Given the description of an element on the screen output the (x, y) to click on. 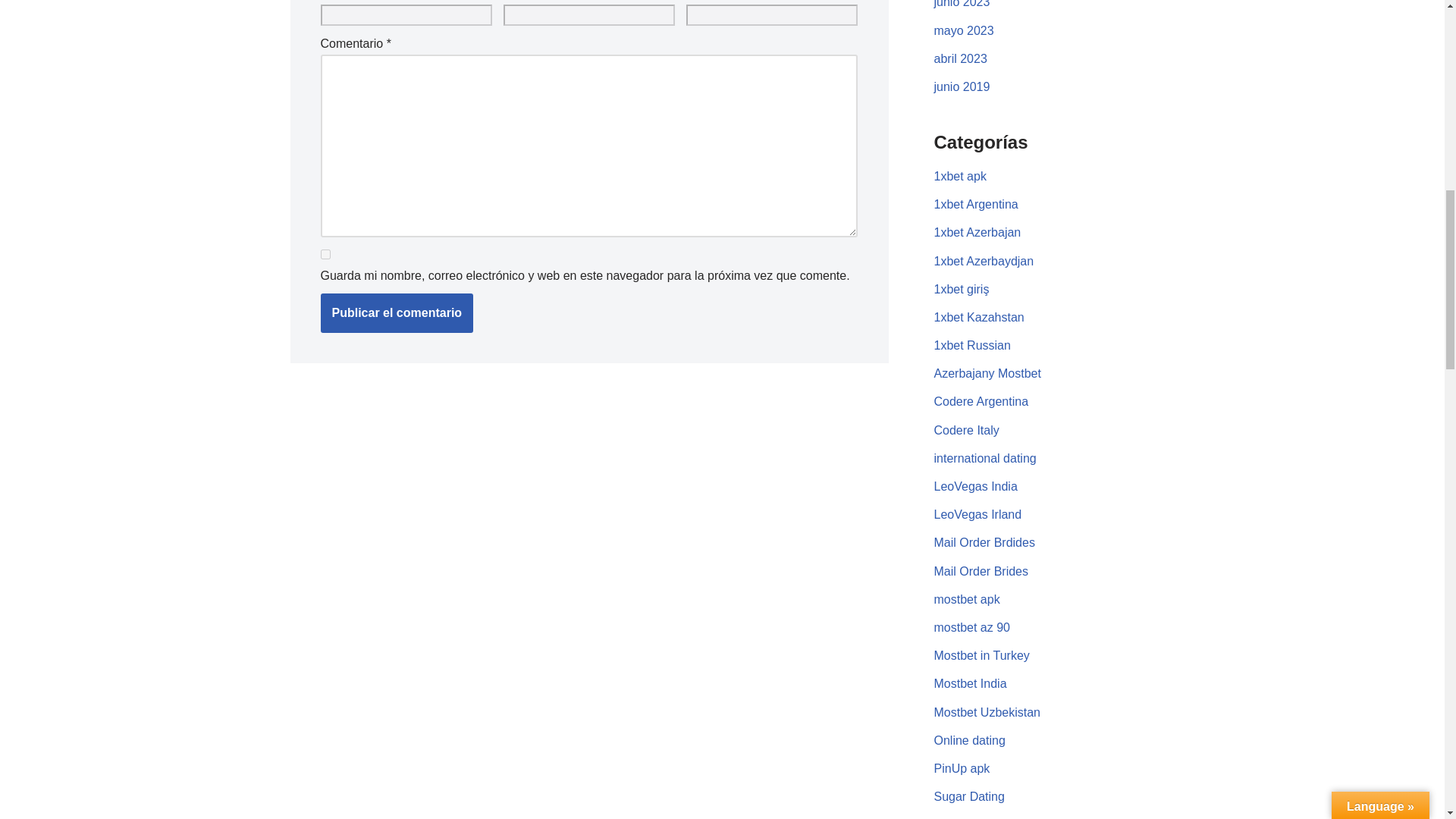
1xbet apk (960, 175)
1xbet Argentina (975, 204)
1xbet Azerbajan (978, 232)
junio 2019 (962, 86)
Publicar el comentario (396, 312)
mayo 2023 (964, 30)
Publicar el comentario (396, 312)
1xbet Azerbaydjan (983, 260)
abril 2023 (960, 58)
junio 2023 (962, 4)
yes (325, 254)
